Given the description of an element on the screen output the (x, y) to click on. 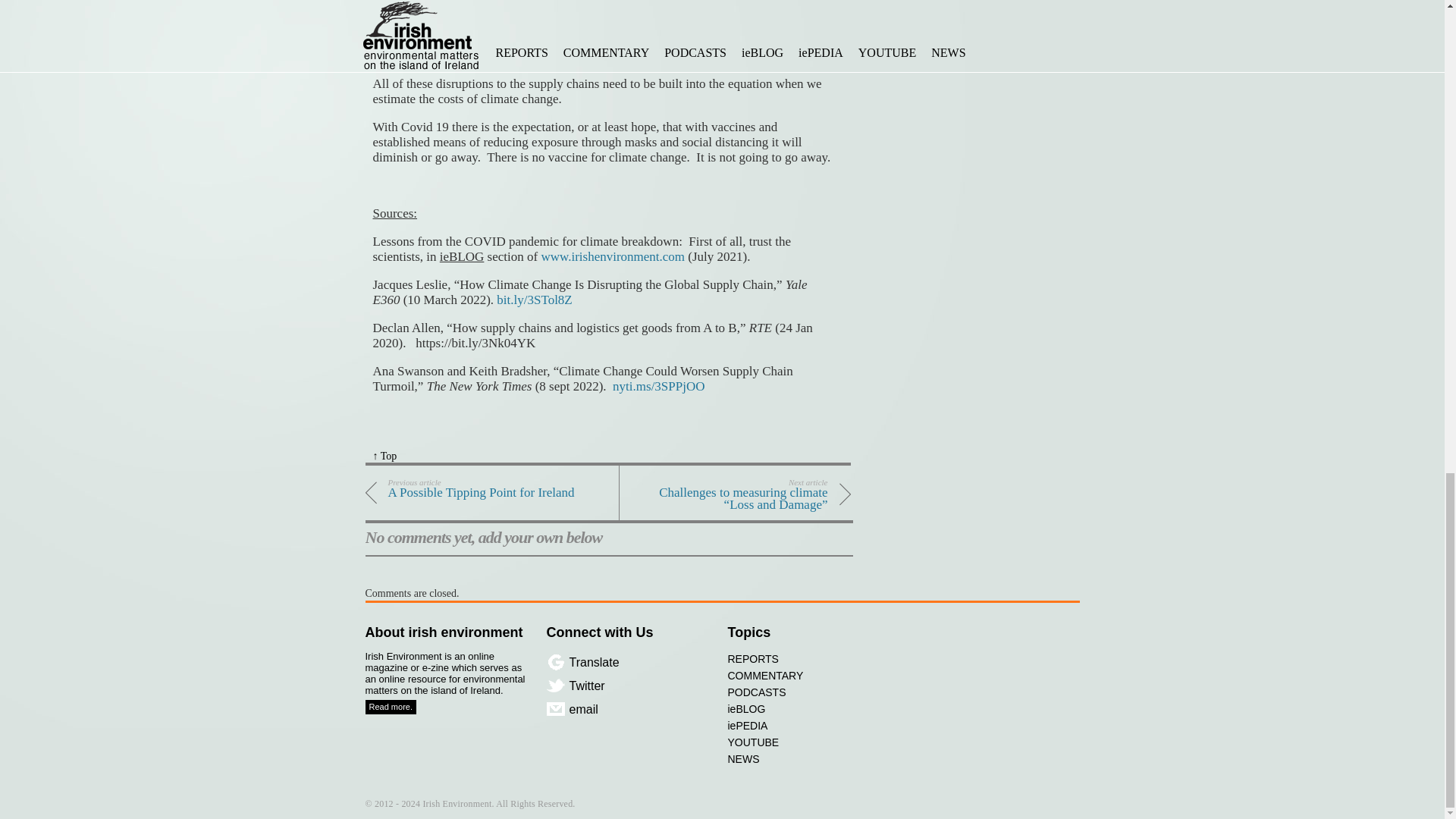
Translate (642, 662)
email (642, 709)
PODCASTS (813, 692)
Connect with us on twitter (642, 685)
www.irishenvironment.com (612, 256)
iePEDIA (813, 725)
REPORTS (813, 658)
YOUTUBE (813, 742)
Connect with email (642, 709)
Translate (642, 662)
ieBLOG (813, 709)
NEWS (471, 492)
COMMENTARY (813, 759)
Back to Top (813, 675)
